Given the description of an element on the screen output the (x, y) to click on. 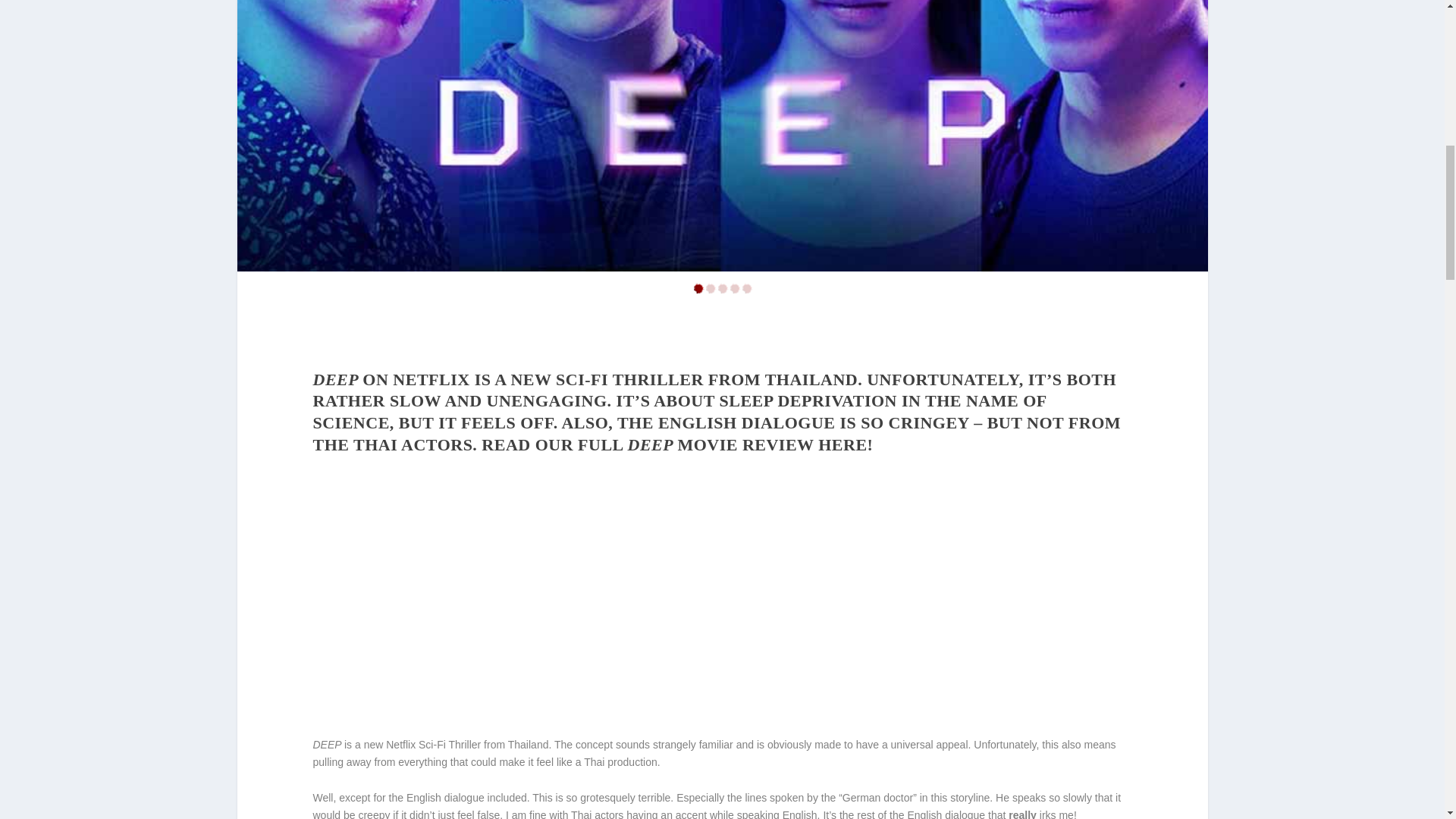
1 out of 5 stars (721, 290)
